Given the description of an element on the screen output the (x, y) to click on. 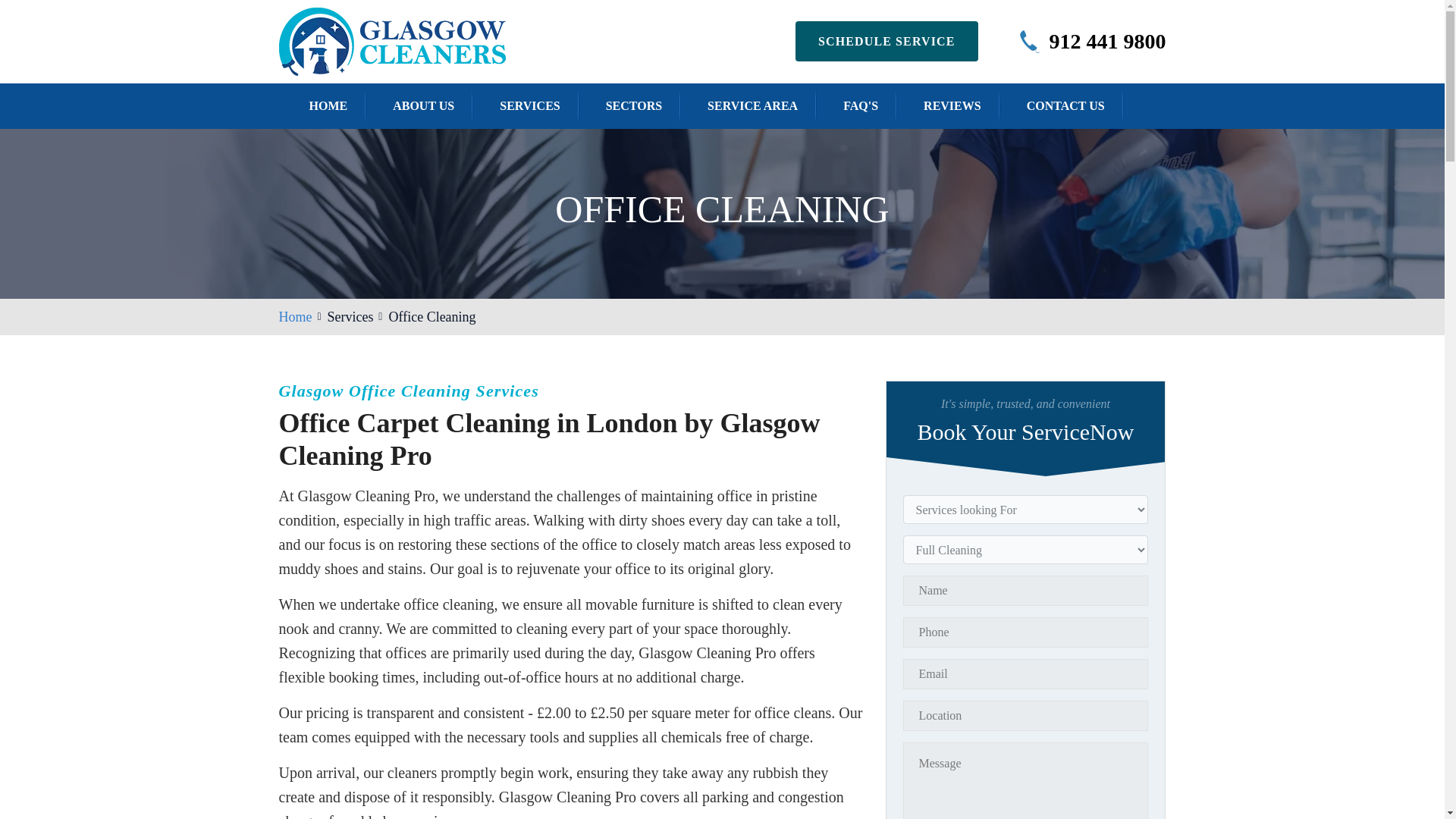
HOME (327, 105)
SCHEDULE SERVICE (886, 41)
912 441 9800 (1107, 41)
ABOUT US (423, 105)
SERVICES (529, 105)
FAQ'S (860, 105)
Home (296, 316)
CONTACT US (1065, 105)
SERVICE AREA (752, 105)
SECTORS (633, 105)
REVIEWS (952, 105)
